Given the description of an element on the screen output the (x, y) to click on. 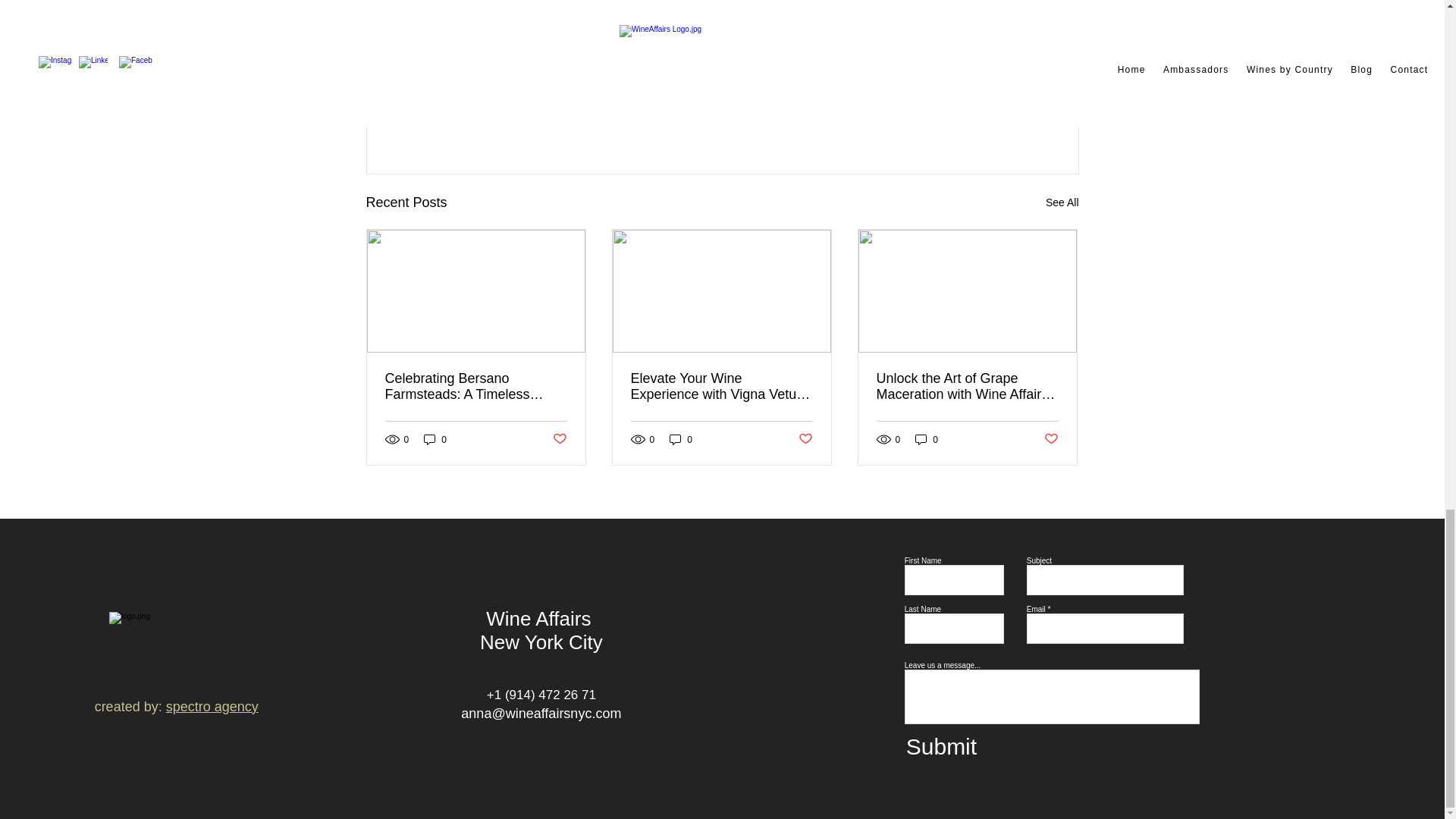
0 (681, 439)
See All (1061, 202)
0 (435, 439)
Post not marked as liked (1050, 439)
Submit (951, 746)
Post not marked as liked (995, 119)
Post not marked as liked (804, 439)
